Given the description of an element on the screen output the (x, y) to click on. 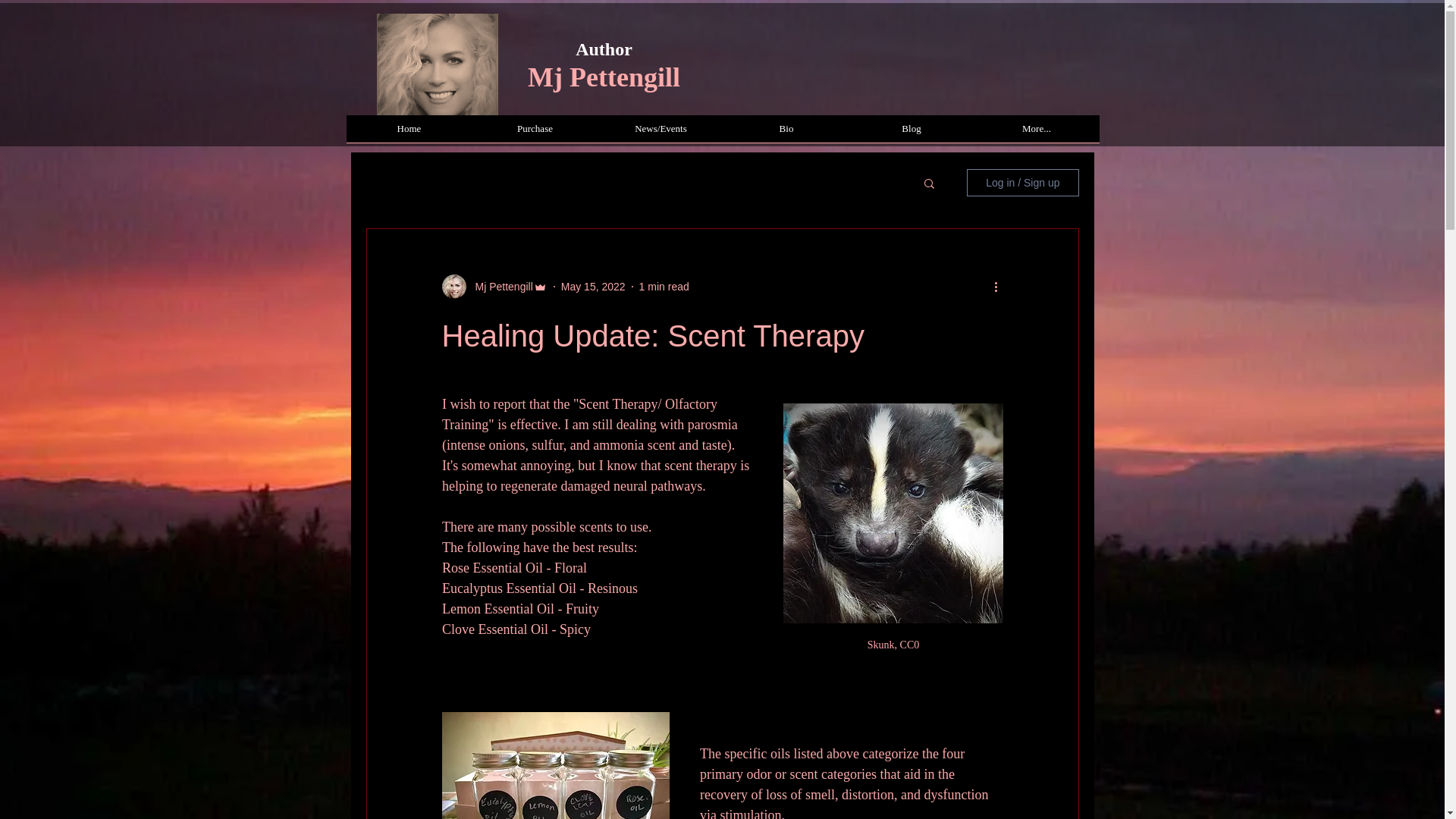
Mj Pettengill (498, 286)
Home (408, 133)
Blog (911, 133)
Mj Pettengill (603, 77)
Bio (785, 133)
May 15, 2022 (593, 286)
Purchase (533, 133)
1 min read (663, 286)
